Given the description of an element on the screen output the (x, y) to click on. 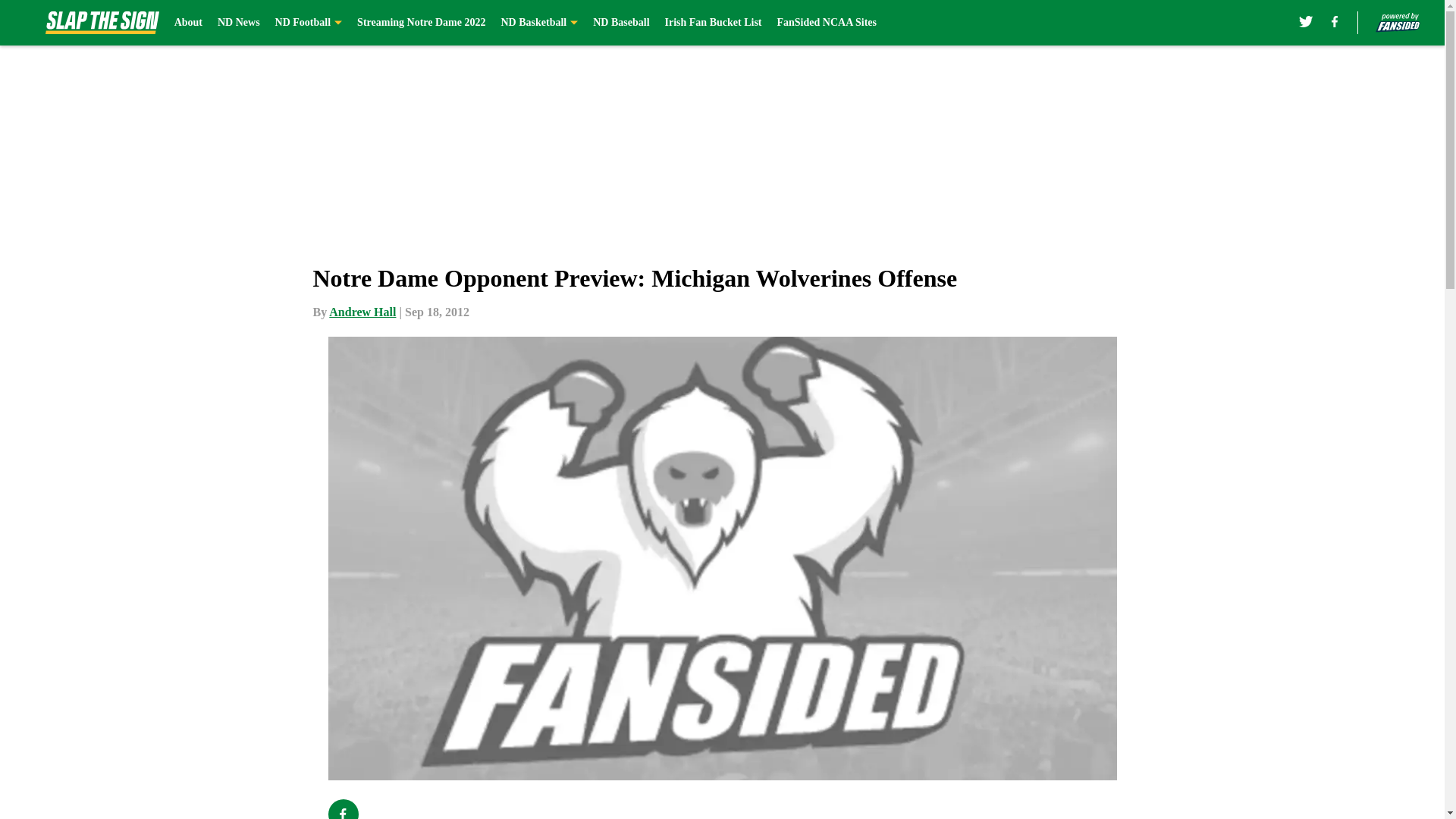
About (188, 22)
ND Baseball (620, 22)
FanSided NCAA Sites (826, 22)
ND News (238, 22)
Irish Fan Bucket List (713, 22)
Andrew Hall (362, 311)
Streaming Notre Dame 2022 (420, 22)
